Given the description of an element on the screen output the (x, y) to click on. 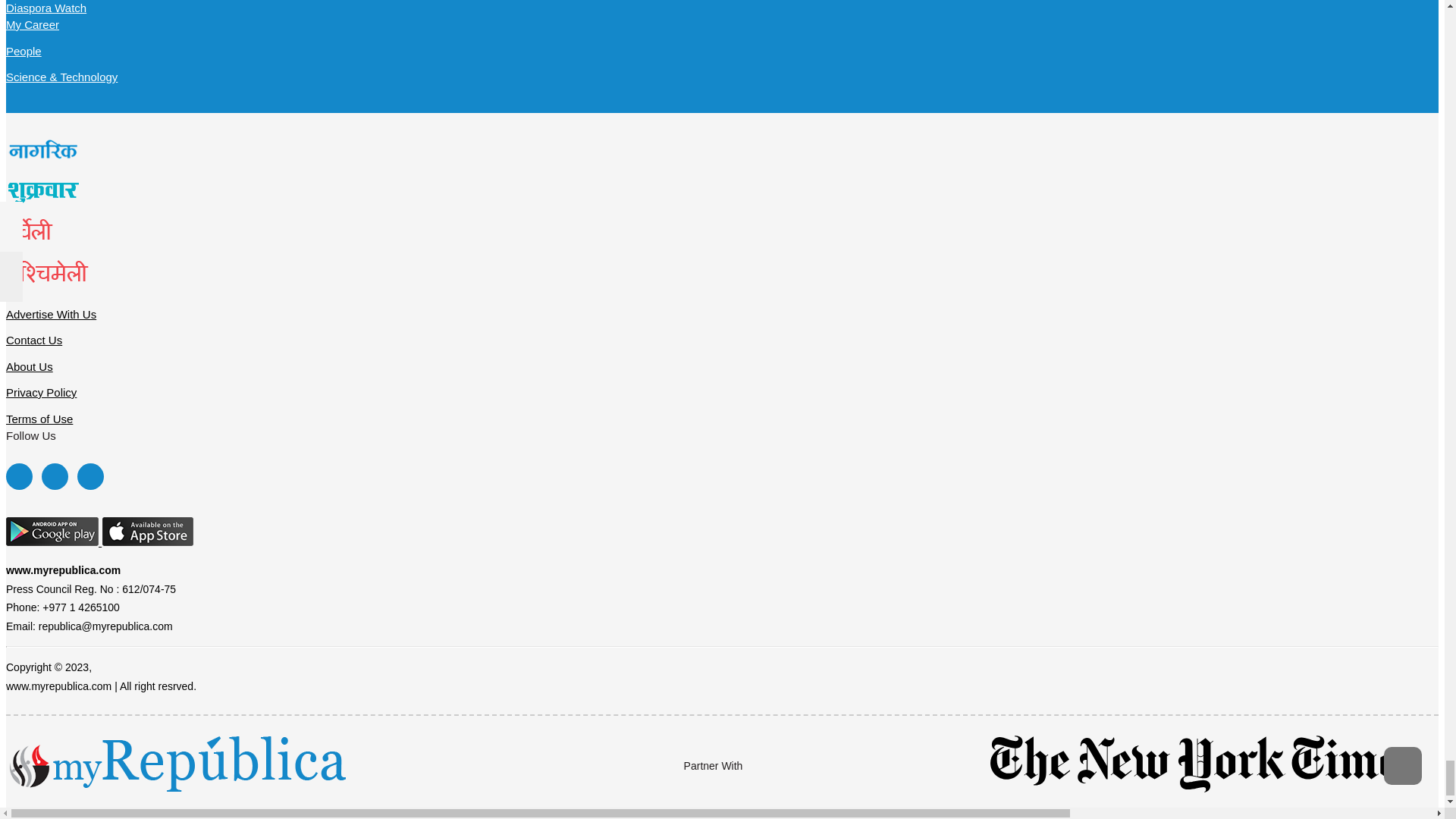
Youtube (90, 476)
Facebook (18, 476)
Twitter (55, 476)
